Given the description of an element on the screen output the (x, y) to click on. 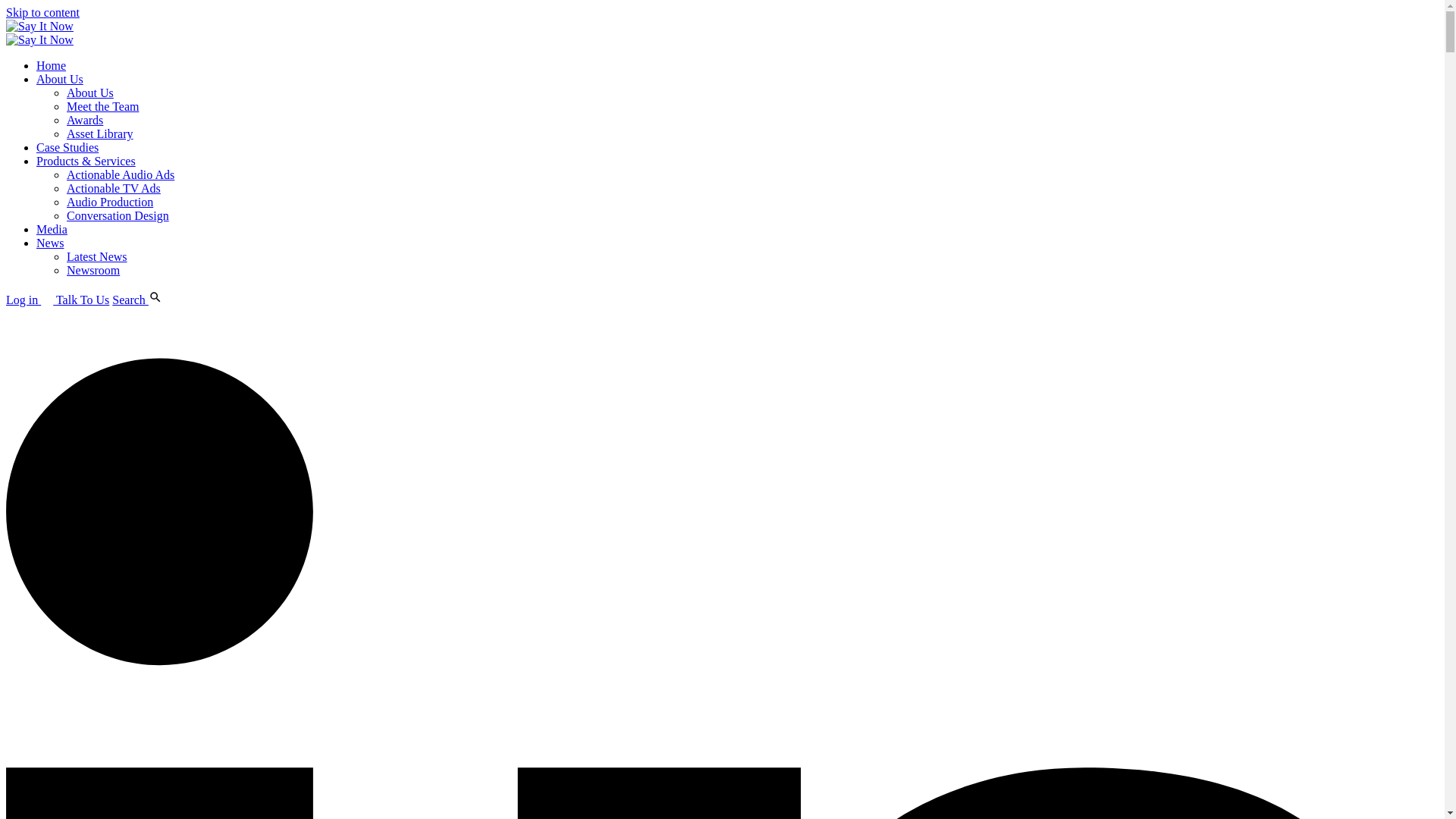
Actionable TV Ads (113, 187)
Conversation Design (117, 215)
Case Studies (67, 146)
Home (50, 65)
Newsroom (92, 269)
Audio Production (109, 201)
About Us (59, 78)
Actionable Audio Ads (120, 174)
Media (51, 228)
Awards (84, 119)
Talk To Us (82, 299)
Latest News (97, 256)
Search (136, 299)
About Us (89, 92)
News (50, 242)
